Given the description of an element on the screen output the (x, y) to click on. 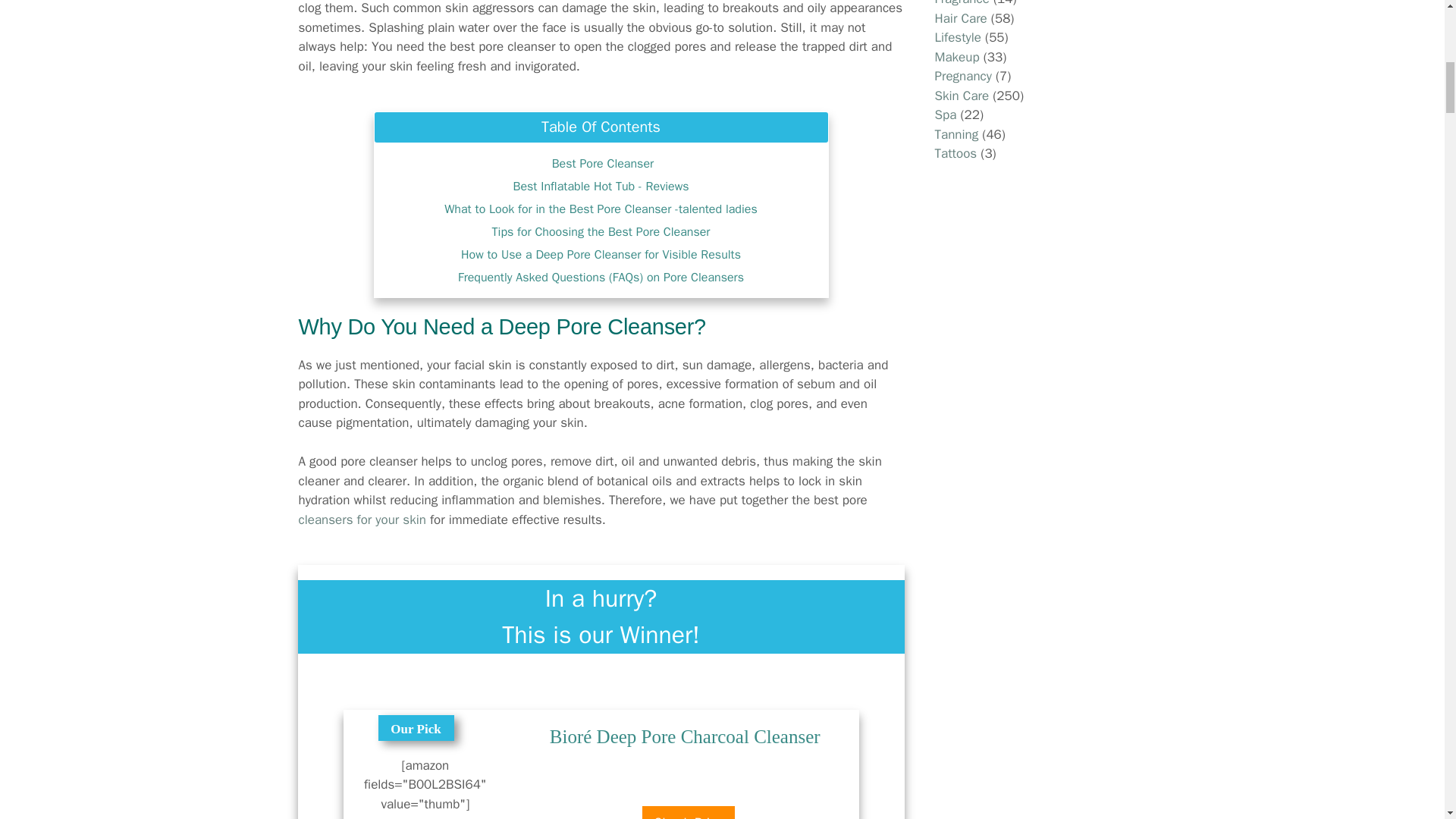
How to Use a Deep Pore Cleanser for Visible Results (601, 254)
Best Inflatable Hot Tub - Reviews (600, 186)
What to Look for in the Best Pore Cleanser -talented ladies (600, 209)
Check Price (688, 812)
amazon (688, 794)
cleansers for your skin (362, 519)
Tips for Choosing the Best Pore Cleanser (601, 231)
 Best Pore Cleanser (600, 163)
